Given the description of an element on the screen output the (x, y) to click on. 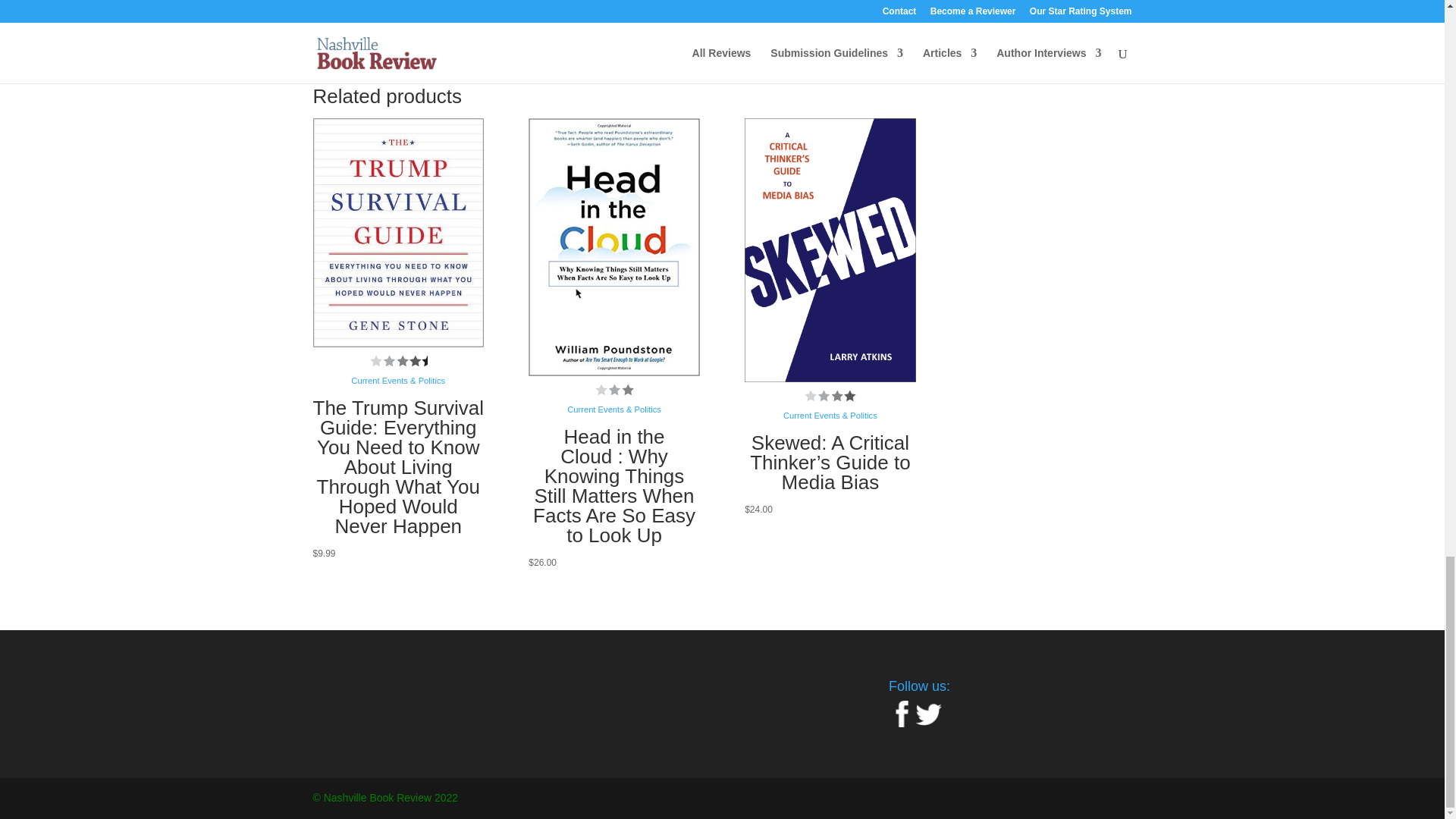
Submit (862, 14)
